Given the description of an element on the screen output the (x, y) to click on. 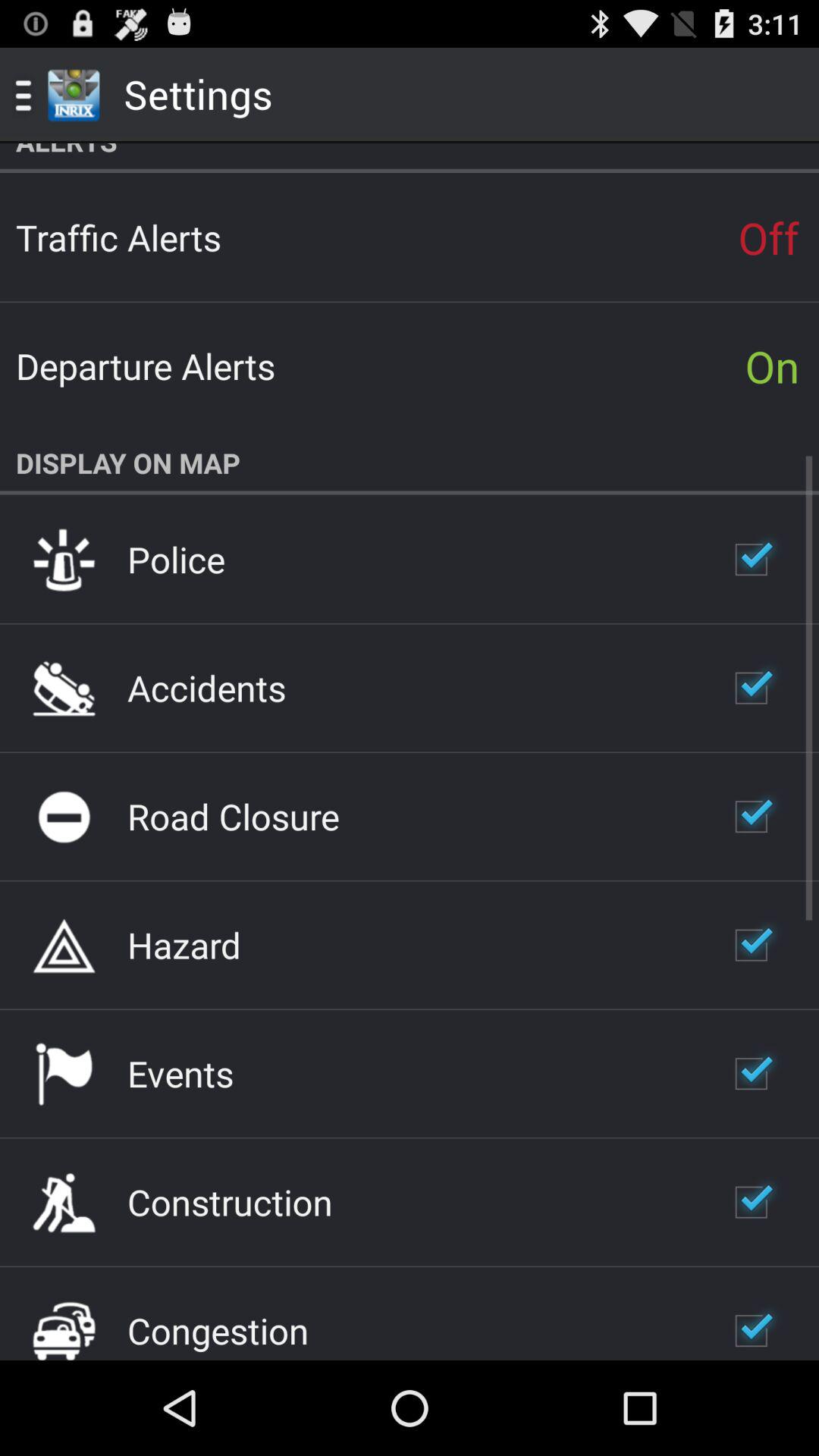
swipe to police (176, 559)
